Given the description of an element on the screen output the (x, y) to click on. 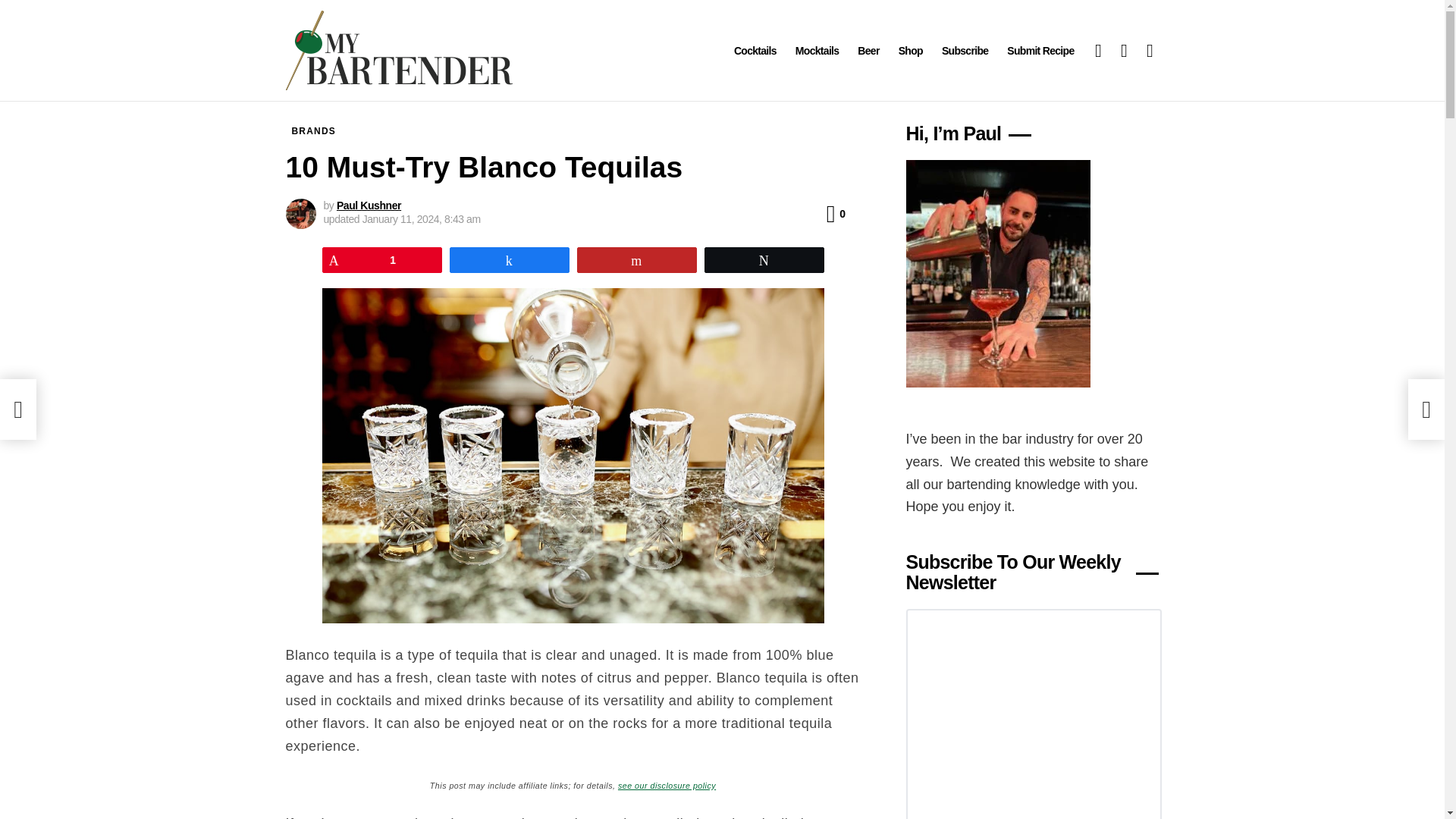
Paul Kushner (368, 205)
Shop (910, 50)
BRANDS (313, 130)
Cocktails (755, 50)
Submit Recipe (1039, 50)
Beer (868, 50)
Posts by Paul Kushner (368, 205)
Subscribe (964, 50)
see our disclosure policy (666, 783)
Mocktails (817, 50)
1 (382, 259)
